Given the description of an element on the screen output the (x, y) to click on. 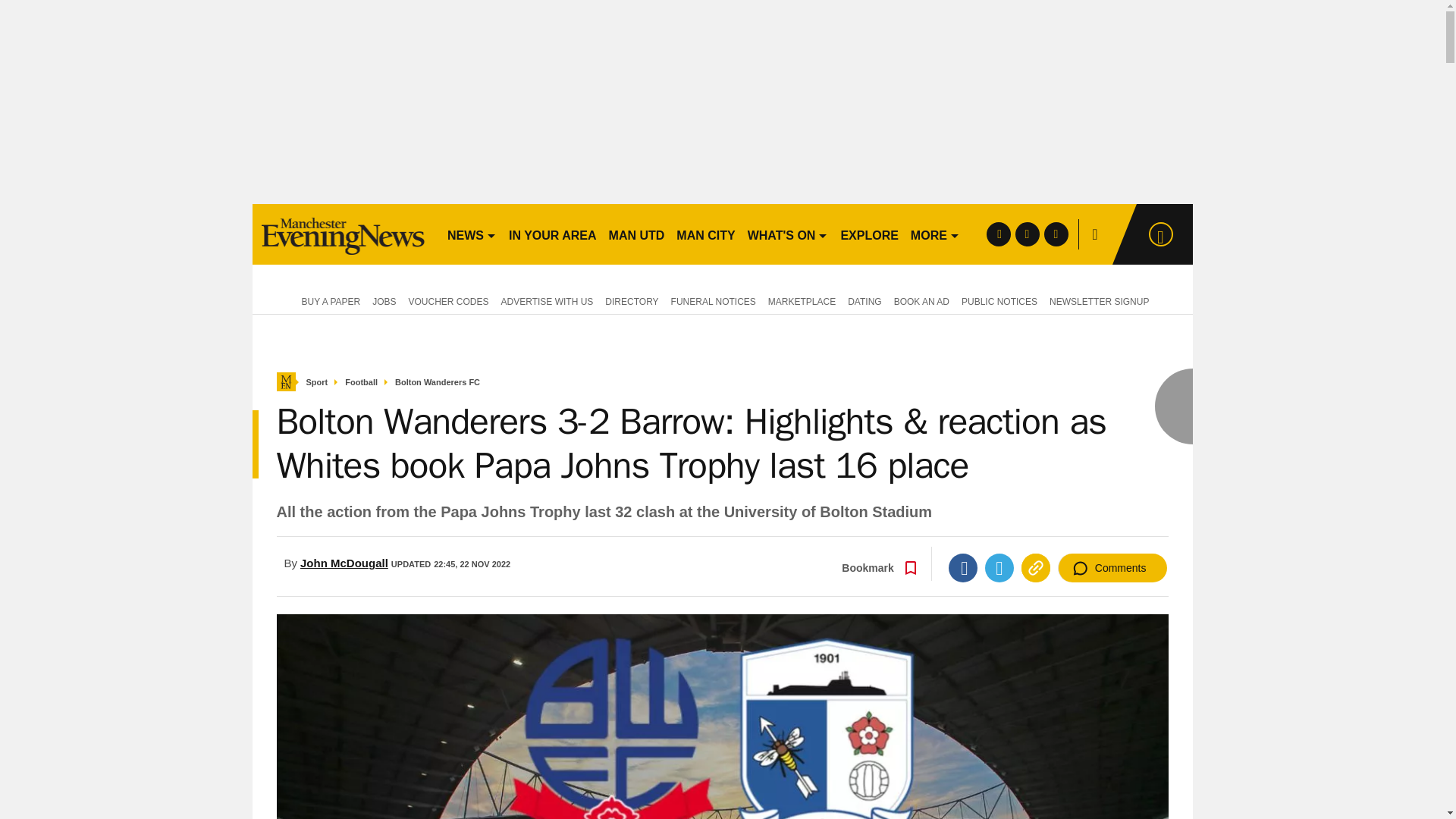
Twitter (999, 567)
WHAT'S ON (787, 233)
men (342, 233)
Facebook (962, 567)
twitter (1026, 233)
MAN CITY (705, 233)
IN YOUR AREA (552, 233)
facebook (997, 233)
Comments (1112, 567)
instagram (1055, 233)
